Given the description of an element on the screen output the (x, y) to click on. 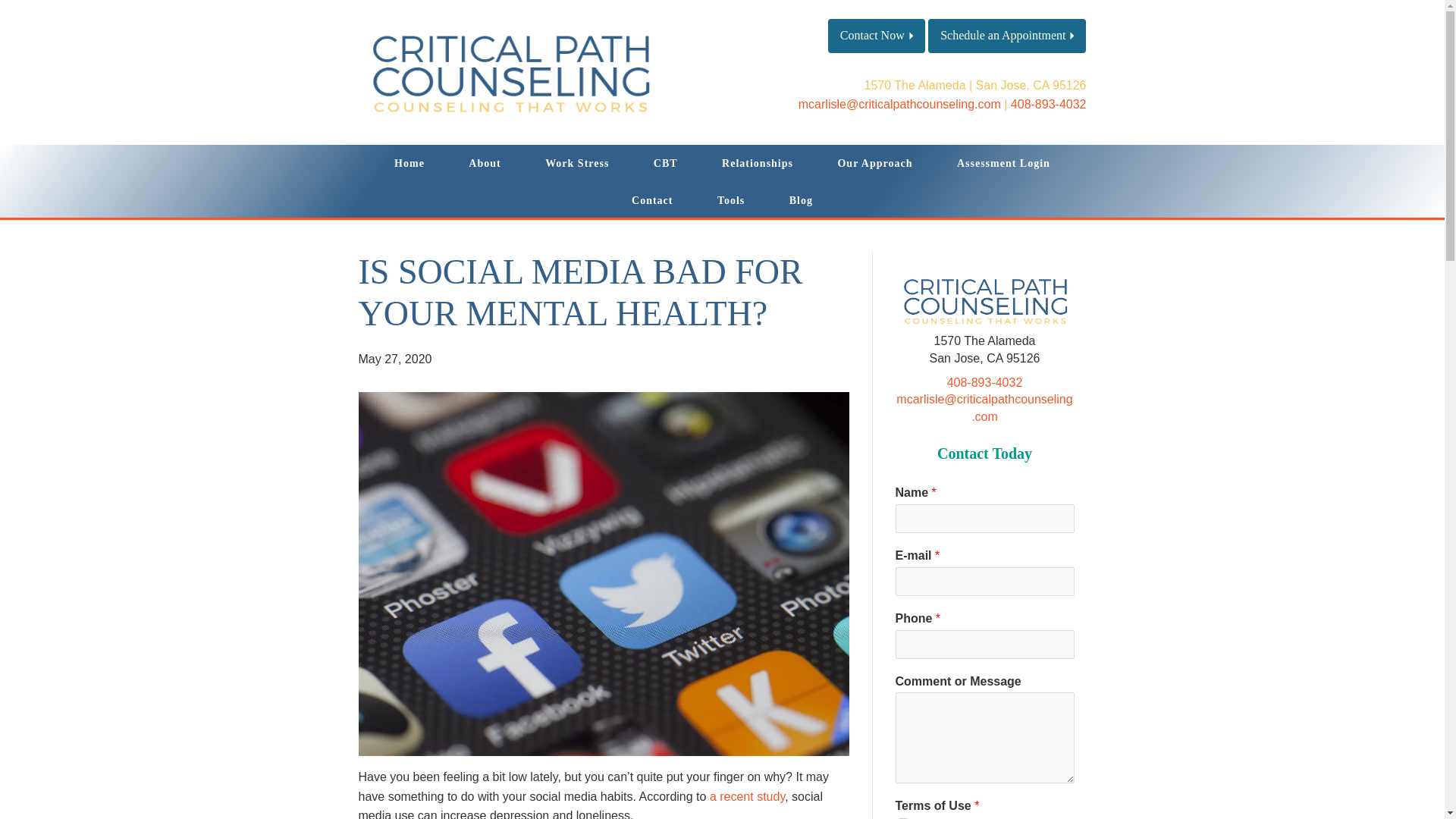
CBT (665, 162)
408-893-4032 (1048, 103)
Work Stress (576, 162)
Home (409, 162)
Our Approach (874, 162)
Contact Now (876, 35)
Relationships (757, 162)
About (484, 162)
Schedule an Appointment (1007, 35)
